Given the description of an element on the screen output the (x, y) to click on. 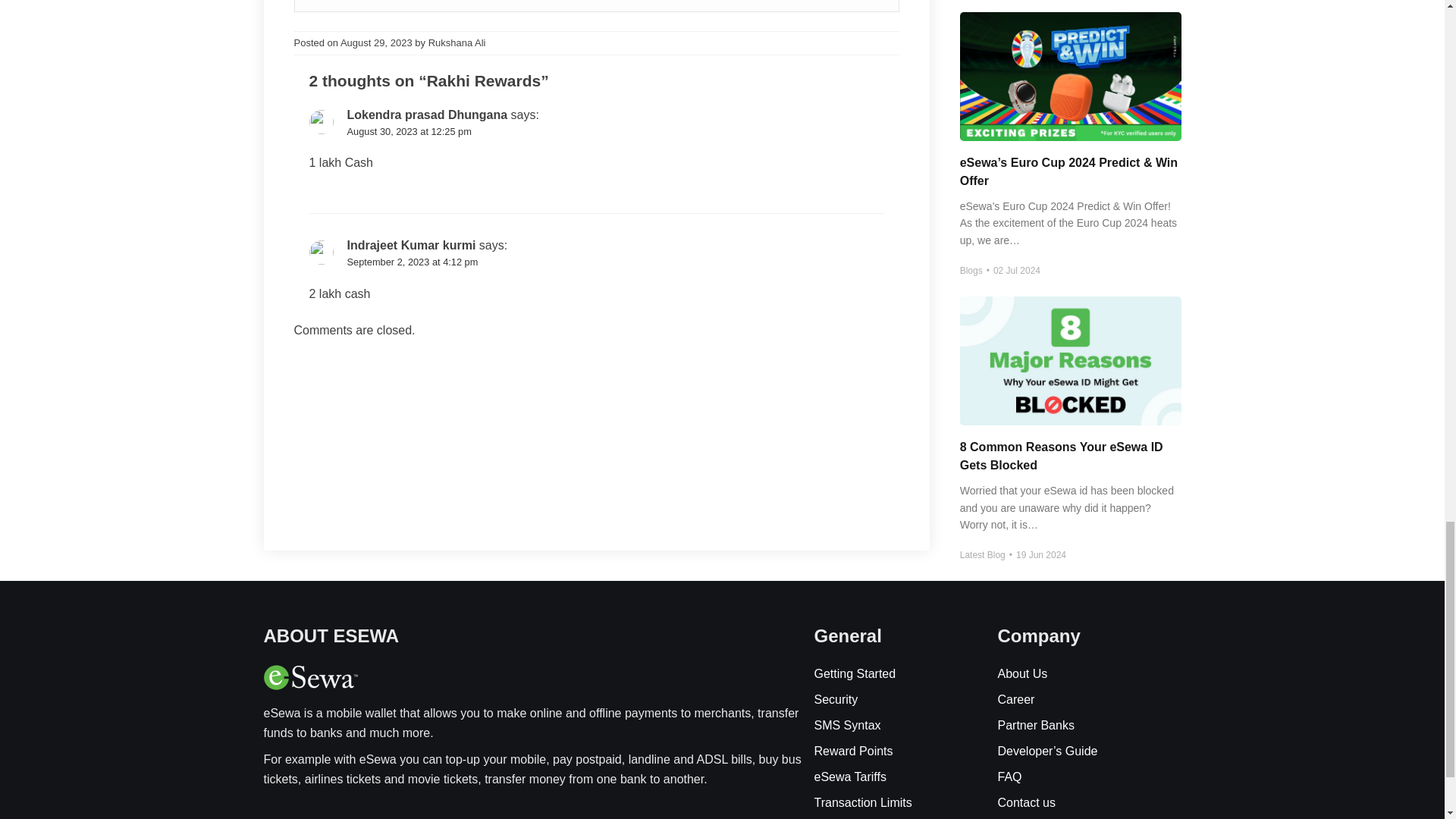
August 29, 2023 (376, 42)
Rukshana Ali (457, 42)
September 2, 2023 at 4:12 pm (413, 261)
August 30, 2023 at 12:25 pm (409, 131)
